Given the description of an element on the screen output the (x, y) to click on. 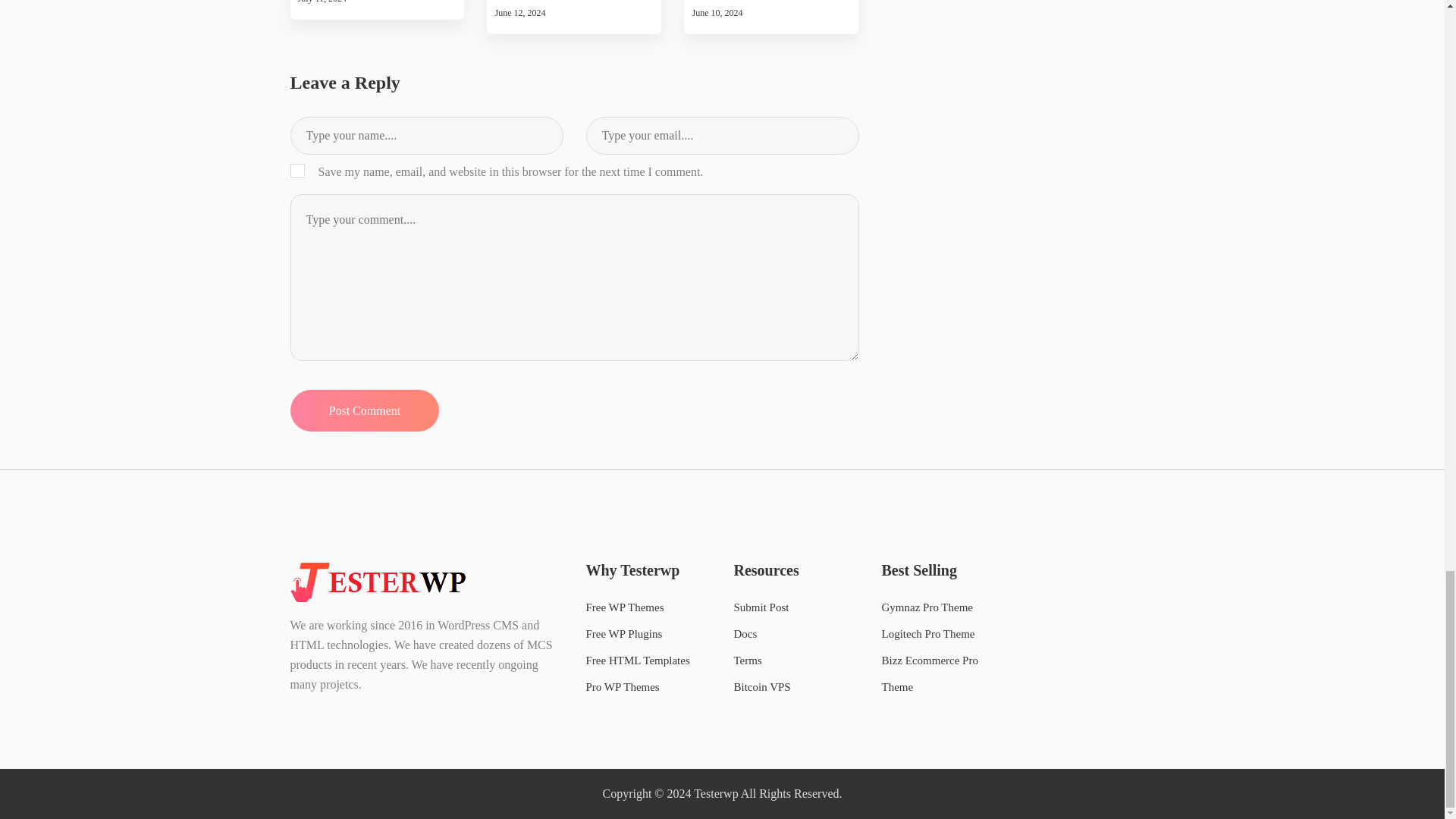
yes (296, 170)
15 Best Free Saas WordPress Themes In 2024 (574, 1)
